Given the description of an element on the screen output the (x, y) to click on. 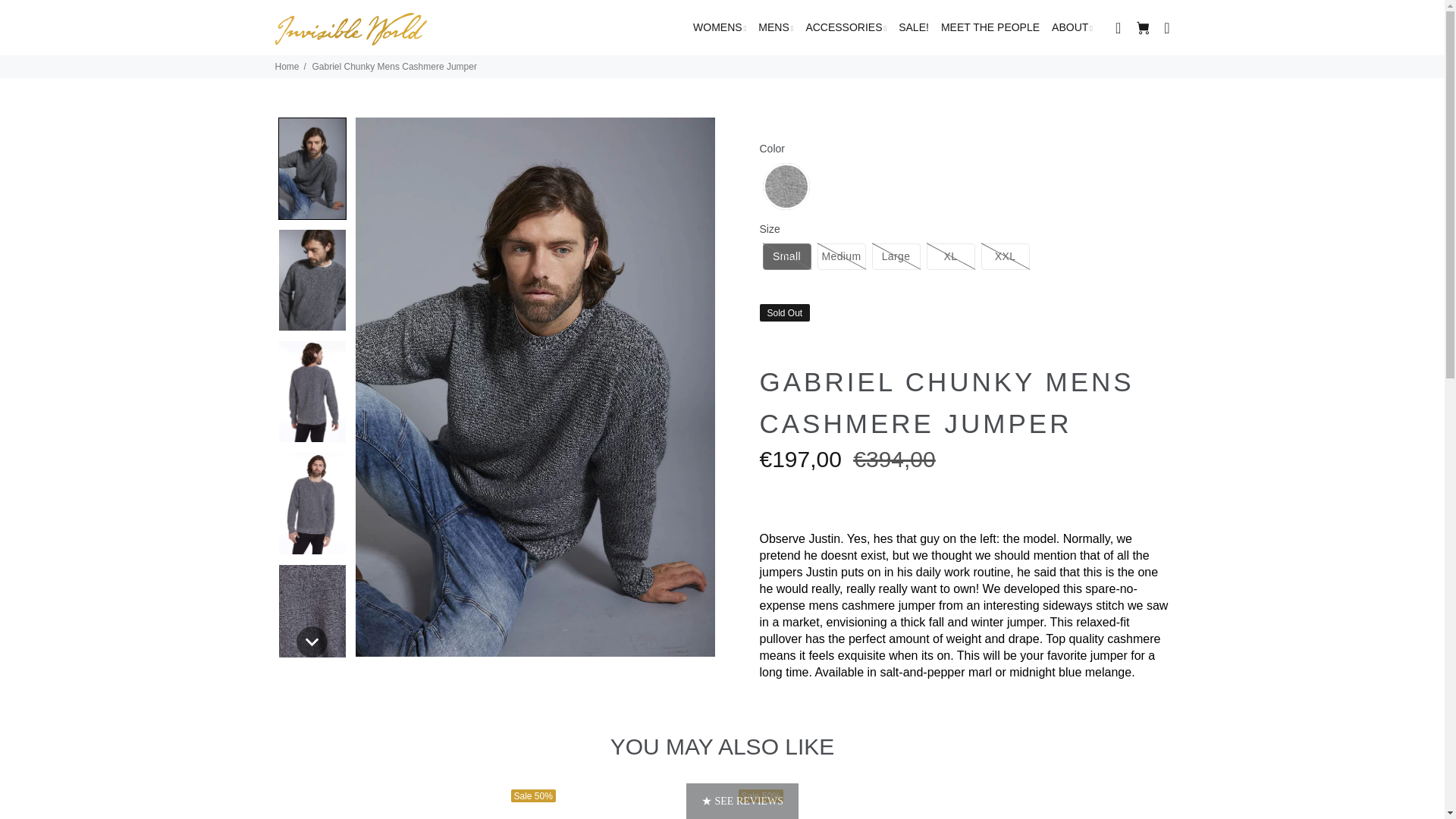
MENS (896, 256)
ACCESSORIES (785, 185)
